Given the description of an element on the screen output the (x, y) to click on. 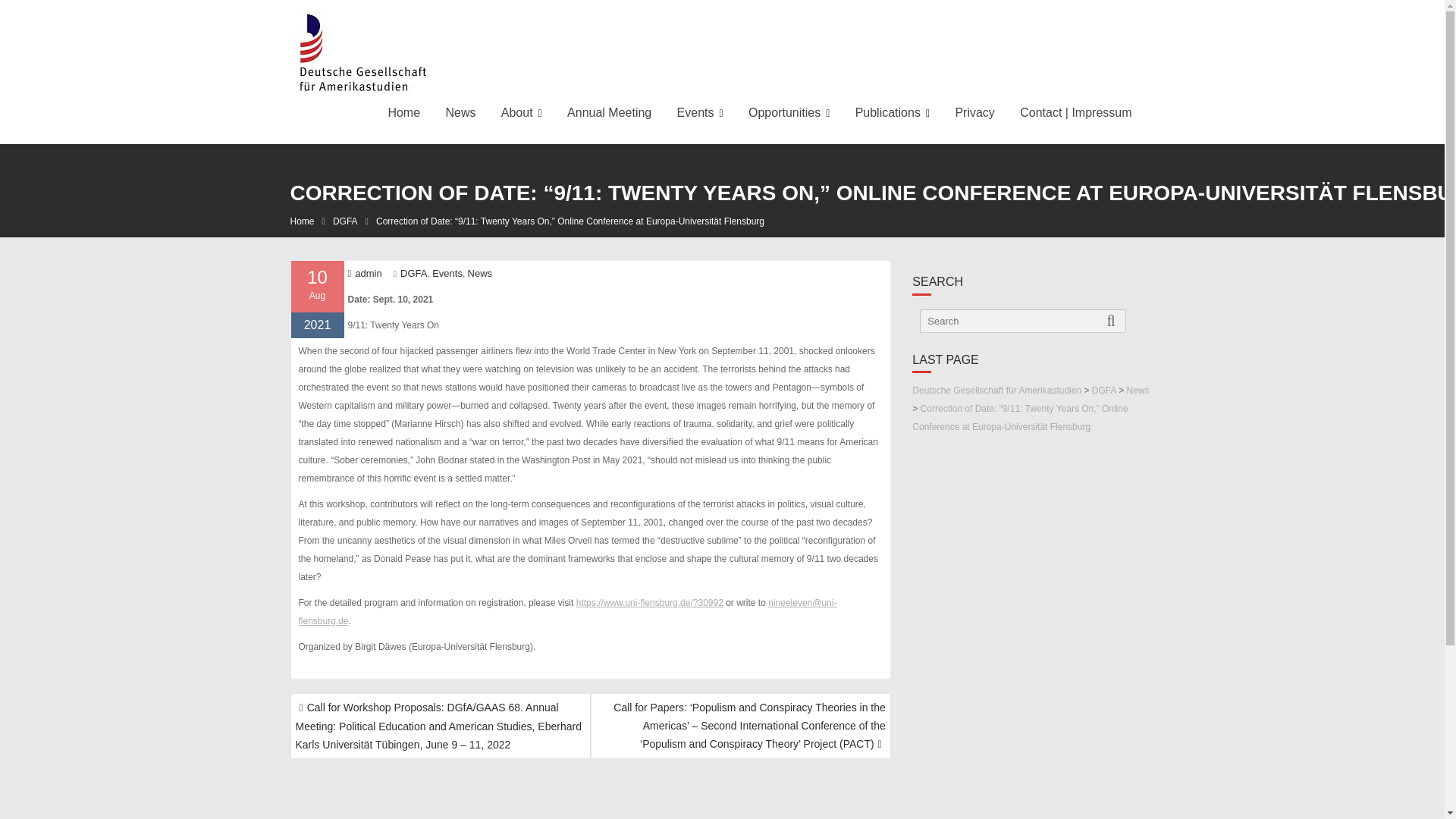
Events (700, 113)
About (521, 113)
Home (402, 112)
Annual Meeting (609, 112)
News (459, 112)
Go to the DGFA category archives. (1104, 389)
Publications (892, 113)
Go to the News category archives. (1136, 389)
Opportunities (788, 113)
